Given the description of an element on the screen output the (x, y) to click on. 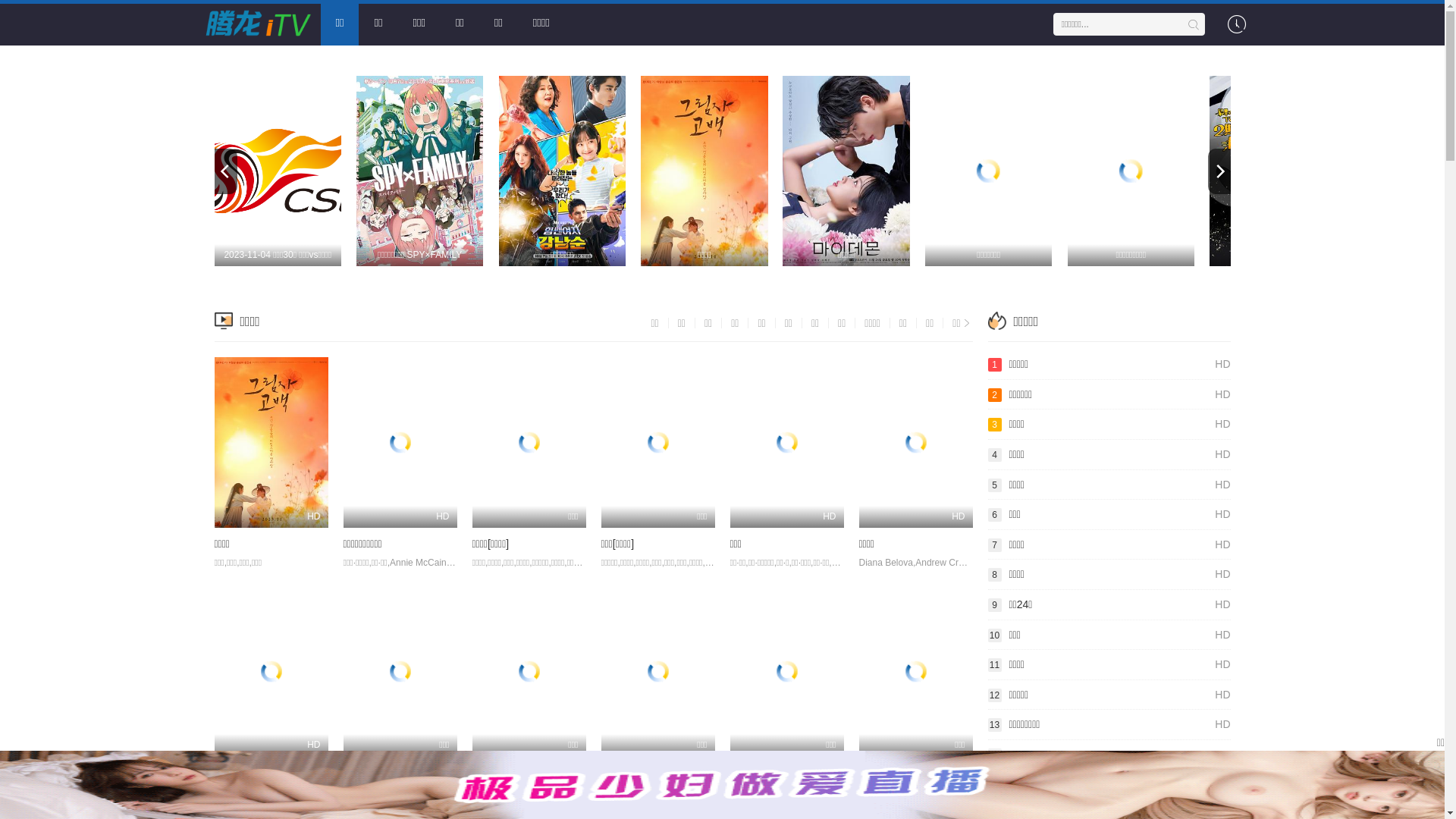
HD Element type: text (399, 442)
HD Element type: text (270, 671)
HD Element type: text (786, 442)
HD Element type: text (915, 442)
HD Element type: text (270, 442)
